Given the description of an element on the screen output the (x, y) to click on. 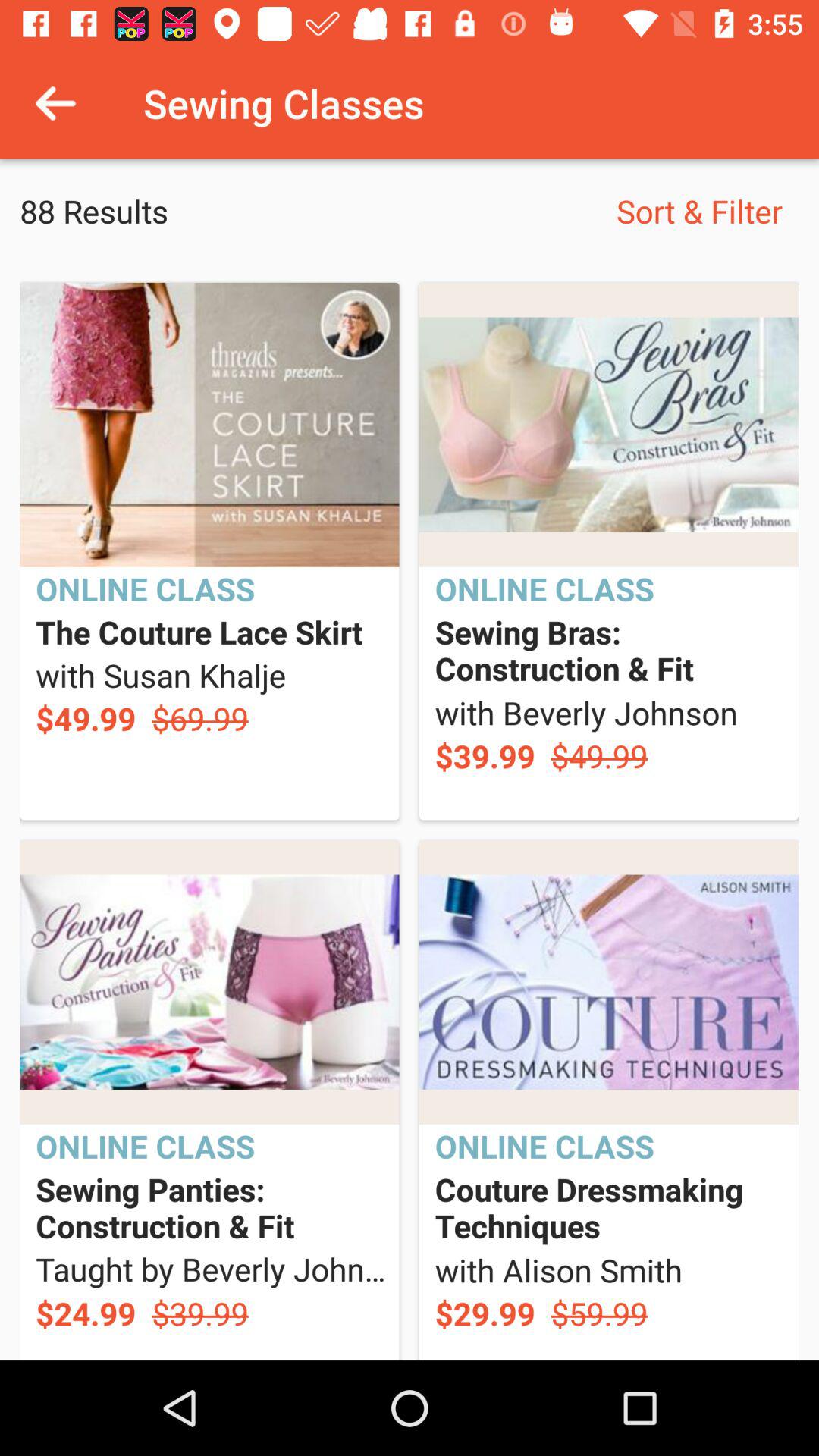
choose item above 88 results icon (55, 103)
